Given the description of an element on the screen output the (x, y) to click on. 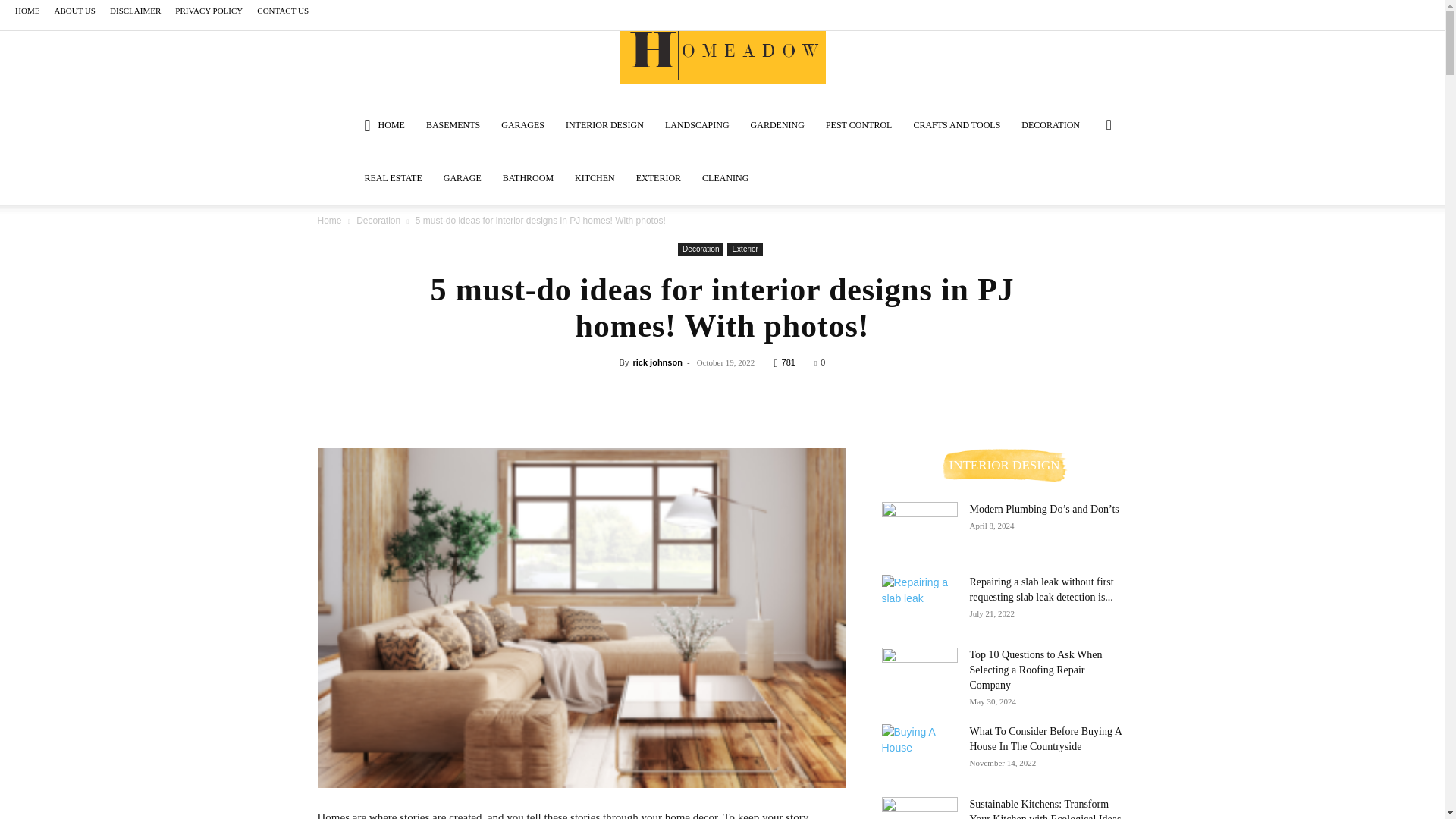
PRIVACY POLICY (208, 10)
LANDSCAPING (696, 124)
PEST CONTROL (858, 124)
ABOUT US (74, 10)
BASEMENTS (452, 124)
INTERIOR DESIGN (603, 124)
View all posts in Decoration (378, 220)
HOME (383, 124)
GARDENING (777, 124)
CONTACT US (282, 10)
HOME (26, 10)
DISCLAIMER (135, 10)
GARAGES (522, 124)
CRAFTS AND TOOLS (956, 124)
